Given the description of an element on the screen output the (x, y) to click on. 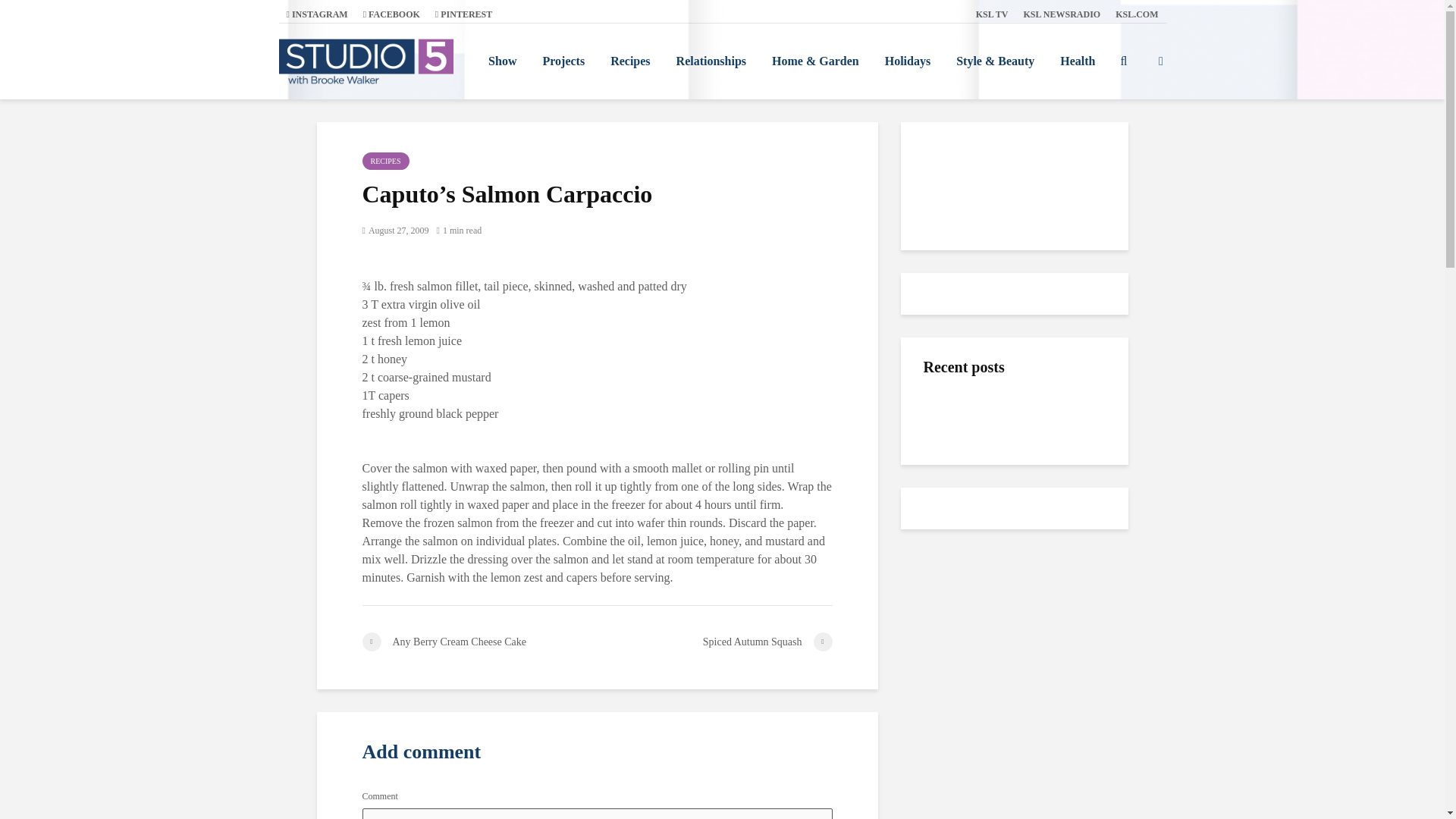
Holidays (907, 60)
RECIPES (385, 160)
Health (1077, 60)
Spiced Autumn Squash (714, 641)
Projects (563, 60)
Any Berry Cream Cheese Cake (479, 641)
KSL NEWSRADIO (1061, 14)
KSL TV (992, 14)
Show (502, 60)
INSTAGRAM (317, 14)
